Given the description of an element on the screen output the (x, y) to click on. 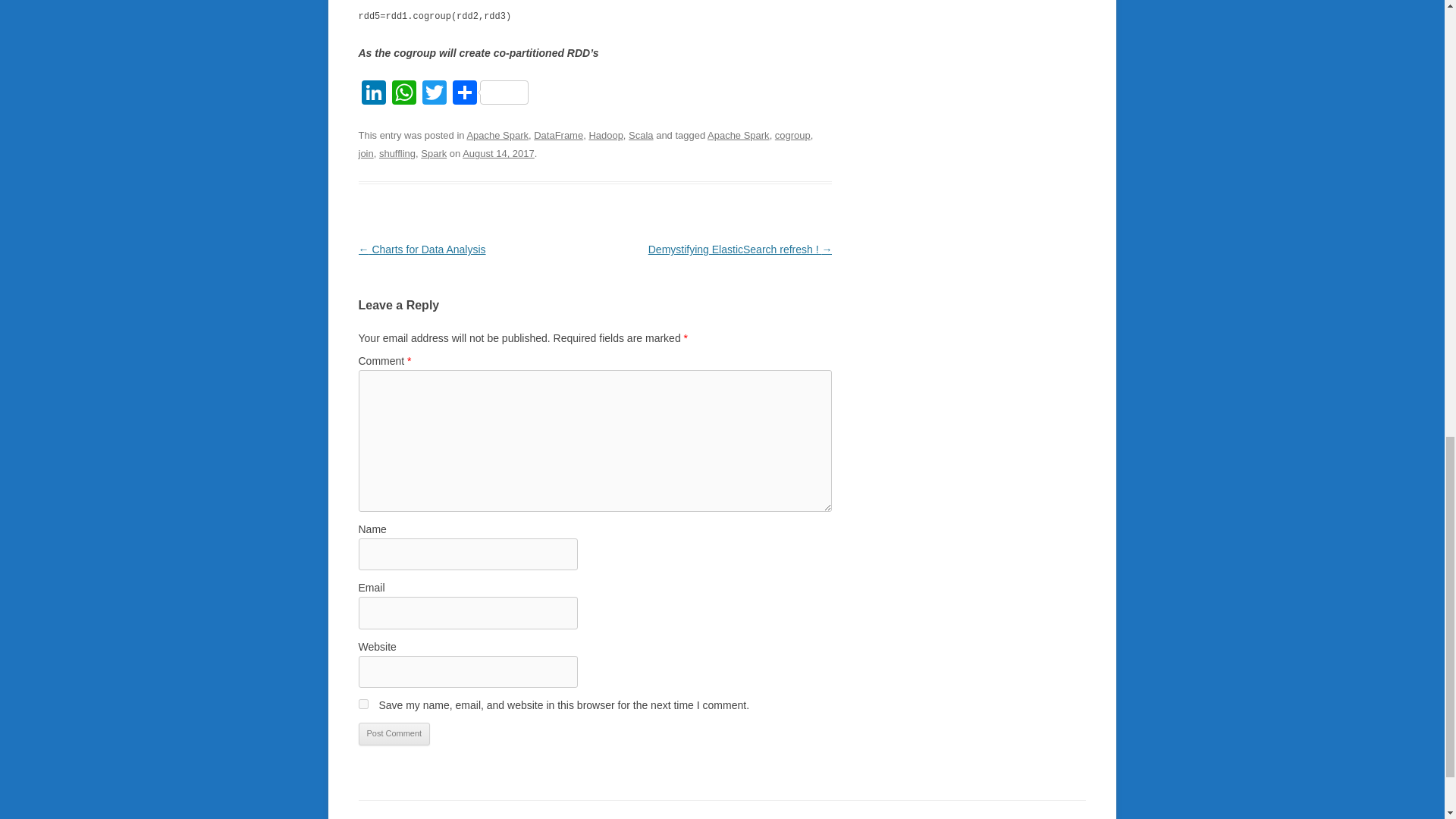
yes (363, 704)
Post Comment (393, 733)
Apache Spark (738, 134)
shuffling (396, 153)
Post Comment (393, 733)
5:32 pm (498, 153)
August 14, 2017 (498, 153)
Scala (640, 134)
Hadoop (605, 134)
Twitter (433, 94)
WhatsApp (403, 94)
join (365, 153)
LinkedIn (373, 94)
WhatsApp (403, 94)
Apache Spark (496, 134)
